Given the description of an element on the screen output the (x, y) to click on. 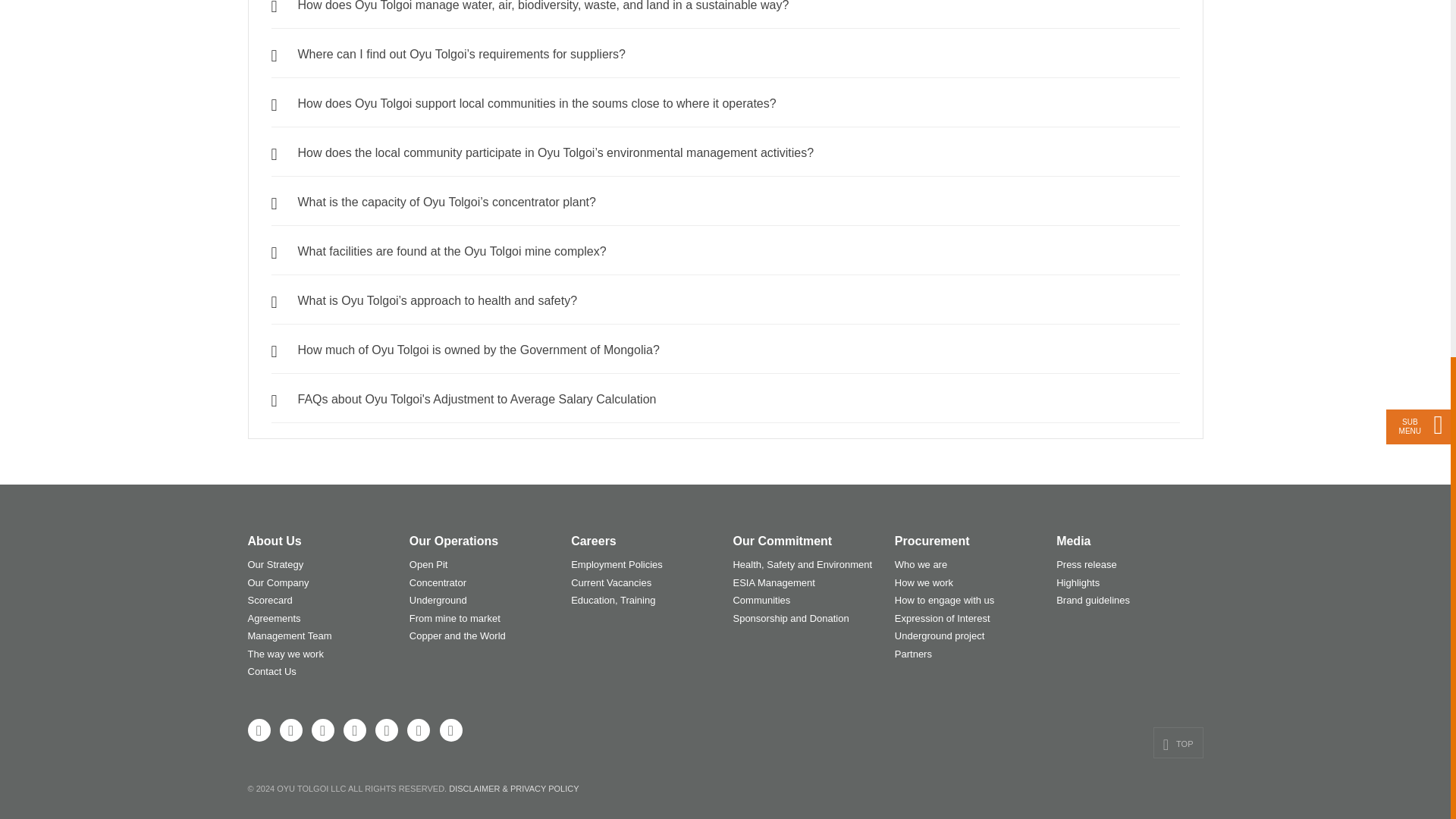
Follow on Instagram (354, 730)
Send us E-mail (418, 730)
Call (451, 730)
Link us on Twitter (290, 730)
Link us on Facebook (258, 730)
Subcribe on Youtube (322, 730)
Contact with us LinkedIn (386, 730)
